Given the description of an element on the screen output the (x, y) to click on. 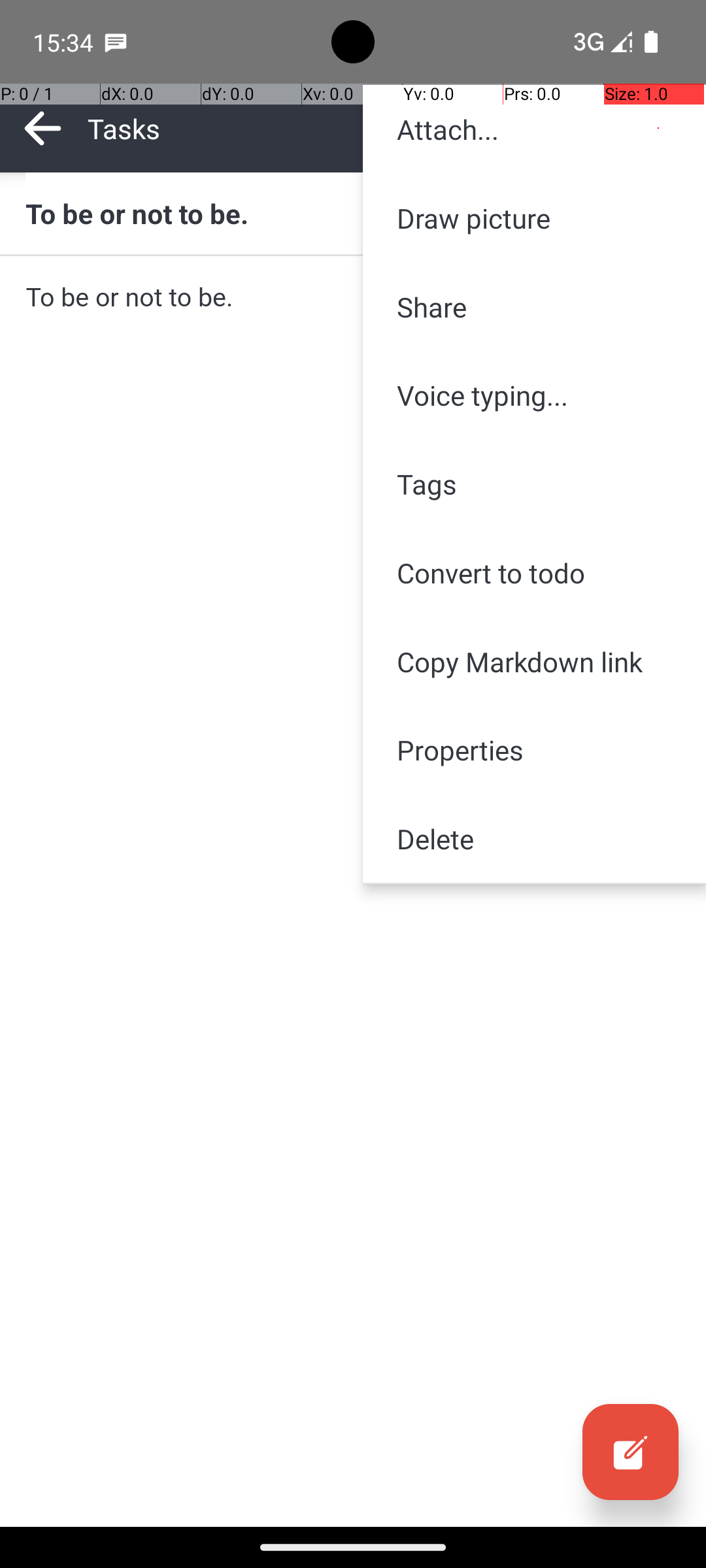
To be or not to be. Element type: android.widget.EditText (352, 213)
Attach... Element type: android.widget.TextView (534, 129)
Draw picture Element type: android.widget.TextView (534, 217)
Voice typing... Element type: android.widget.TextView (534, 395)
Tags Element type: android.widget.TextView (534, 484)
Convert to todo Element type: android.widget.TextView (534, 572)
Copy Markdown link Element type: android.widget.TextView (534, 661)
Properties Element type: android.widget.TextView (534, 749)
